Given the description of an element on the screen output the (x, y) to click on. 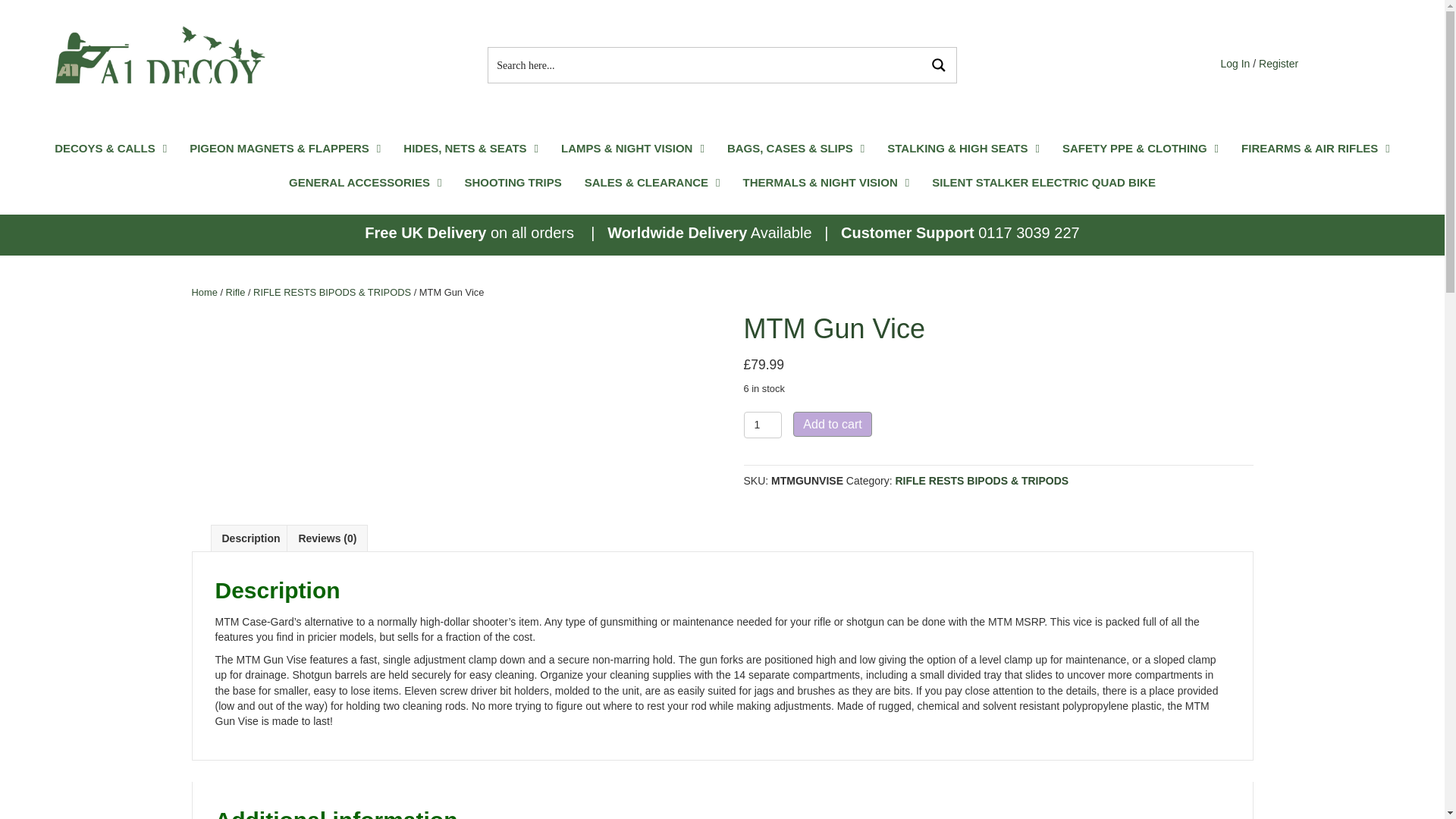
1 (761, 424)
Register (1278, 63)
Log In (1234, 63)
